Given the description of an element on the screen output the (x, y) to click on. 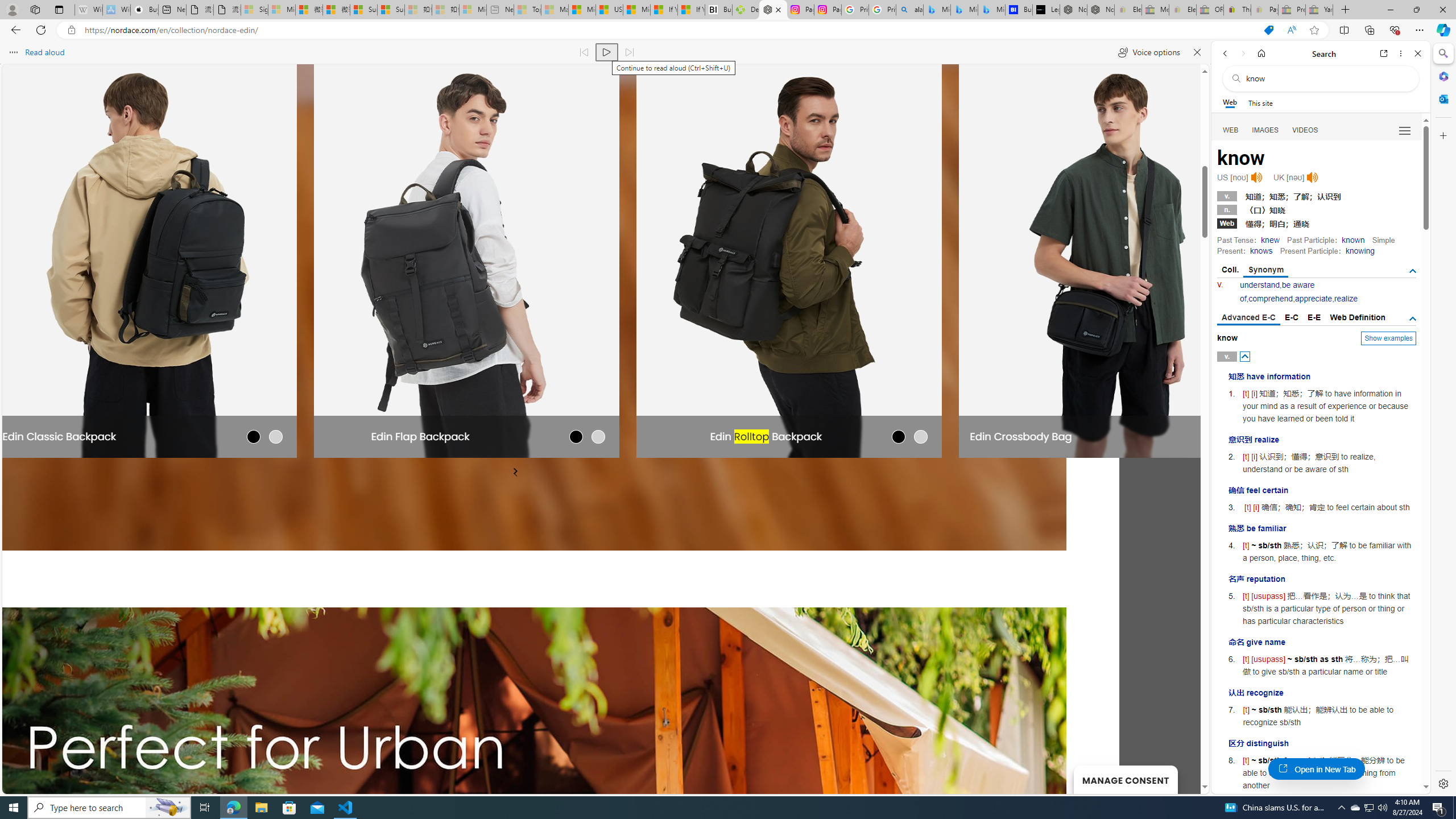
Search the web (1326, 78)
Class: flickity-button-icon (515, 471)
Next (514, 471)
Edin Classic Backpack (59, 436)
Side bar (1443, 418)
Home (1261, 53)
Wikipedia - Sleeping (88, 9)
Class: b_serphb (1404, 130)
alabama high school quarterback dies - Search (909, 9)
Continue to read aloud (Ctrl+Shift+U) (606, 52)
AutomationID: tgsb (1412, 270)
